Given the description of an element on the screen output the (x, y) to click on. 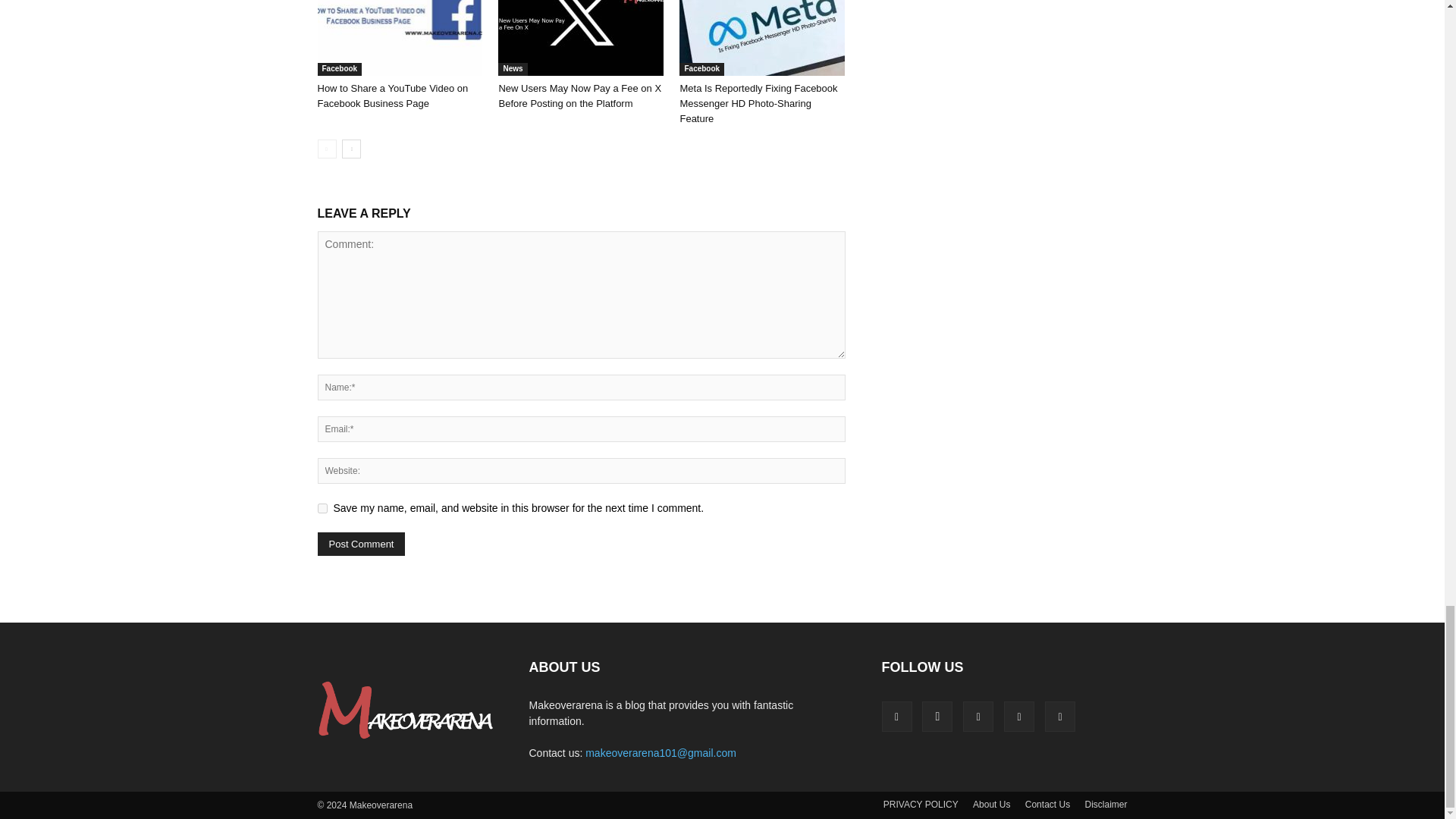
How to Share a YouTube Video on Facebook Business Page (399, 38)
yes (321, 508)
Post Comment (360, 544)
